Given the description of an element on the screen output the (x, y) to click on. 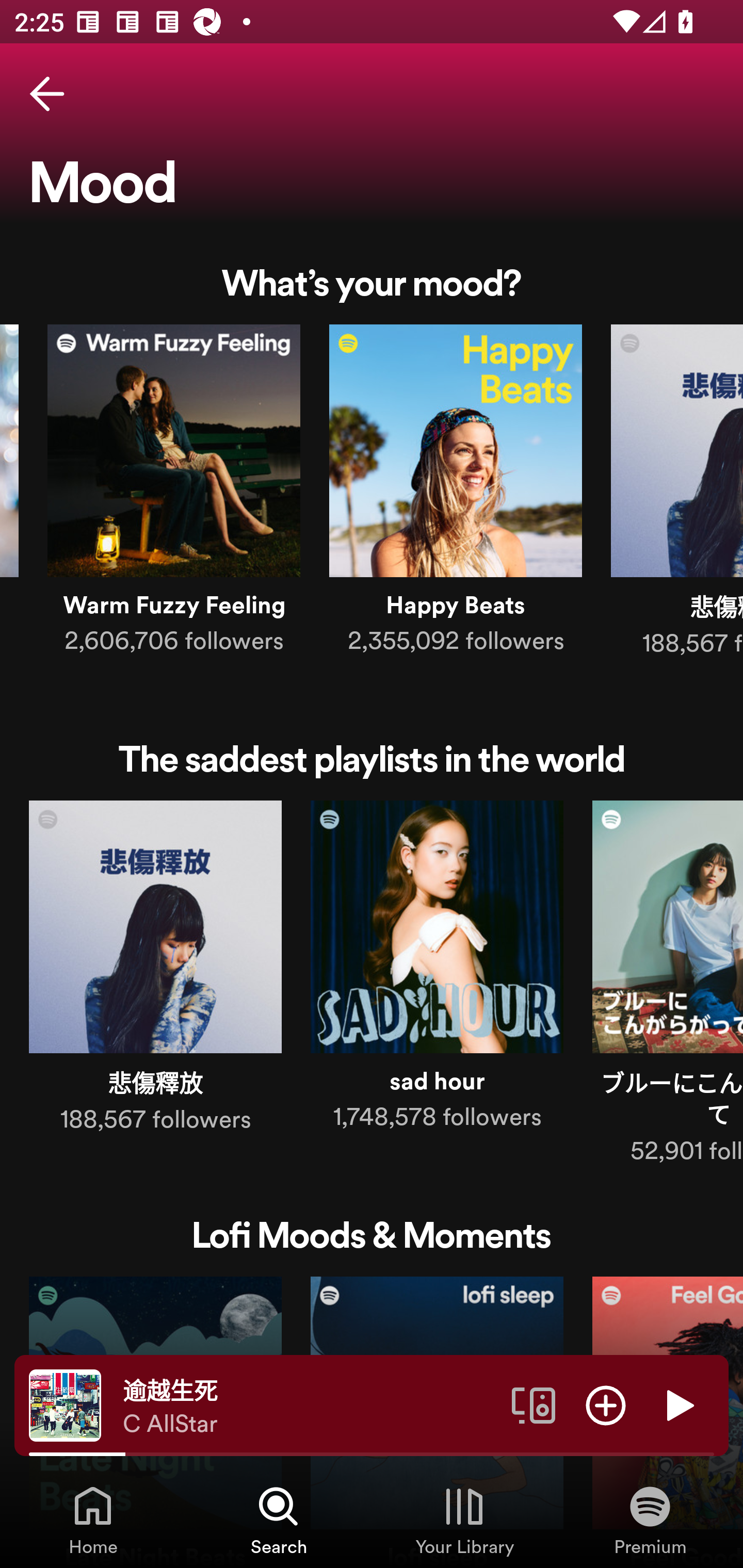
Back (46, 93)
悲傷釋放
188,567 followers 悲傷釋放 188,567 followers (154, 971)
逾越生死 C AllStar (309, 1405)
The cover art of the currently playing track (64, 1404)
Connect to a device. Opens the devices menu (533, 1404)
Add item (605, 1404)
Play (677, 1404)
Home, Tab 1 of 4 Home Home (92, 1519)
Search, Tab 2 of 4 Search Search (278, 1519)
Your Library, Tab 3 of 4 Your Library Your Library (464, 1519)
Premium, Tab 4 of 4 Premium Premium (650, 1519)
